Given the description of an element on the screen output the (x, y) to click on. 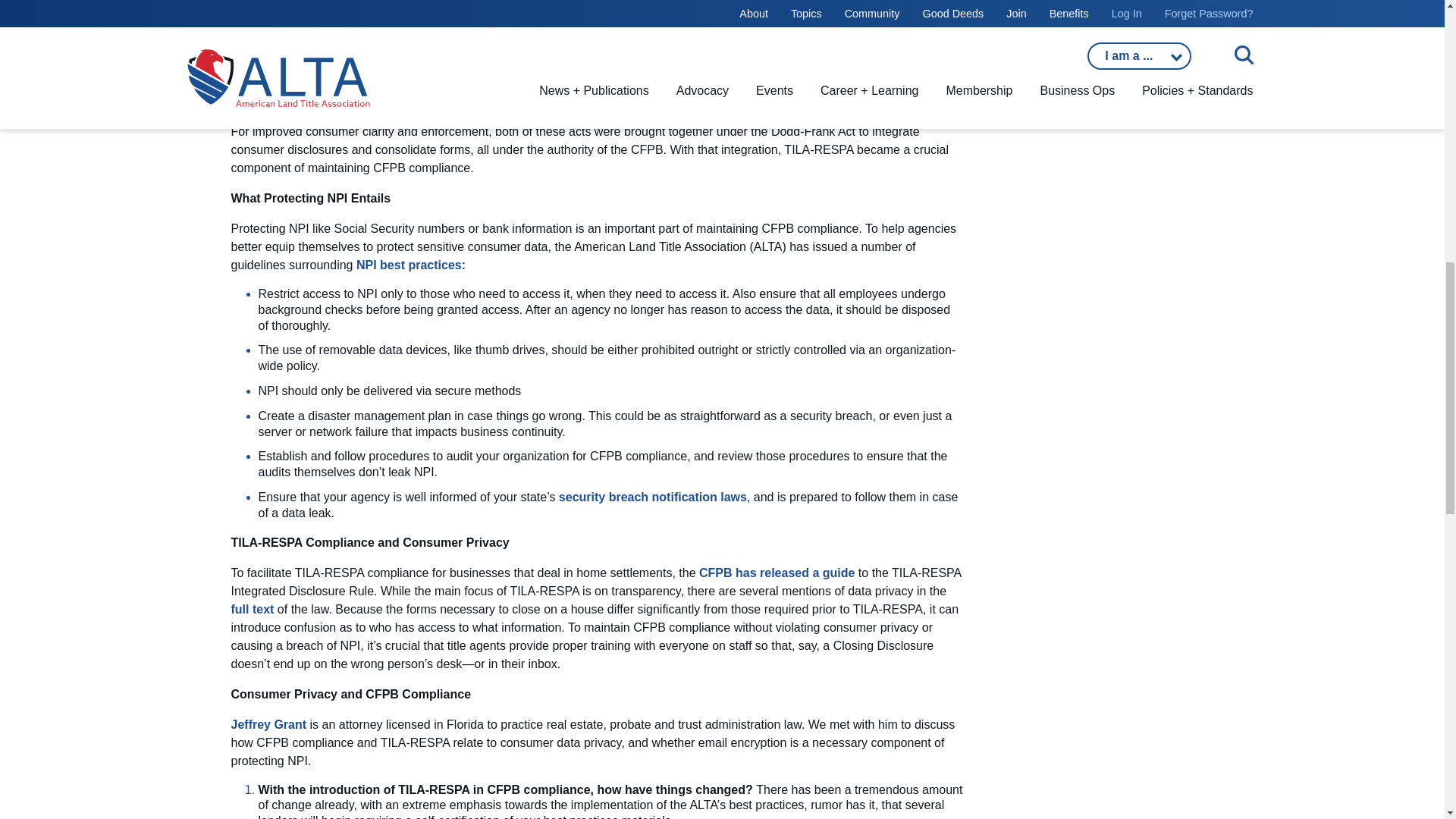
Jeffrey Grant (267, 724)
CFPB (778, 572)
Mortgage  (251, 608)
SECURITY BREACH NOTIFICATION LAWS (652, 496)
